Given the description of an element on the screen output the (x, y) to click on. 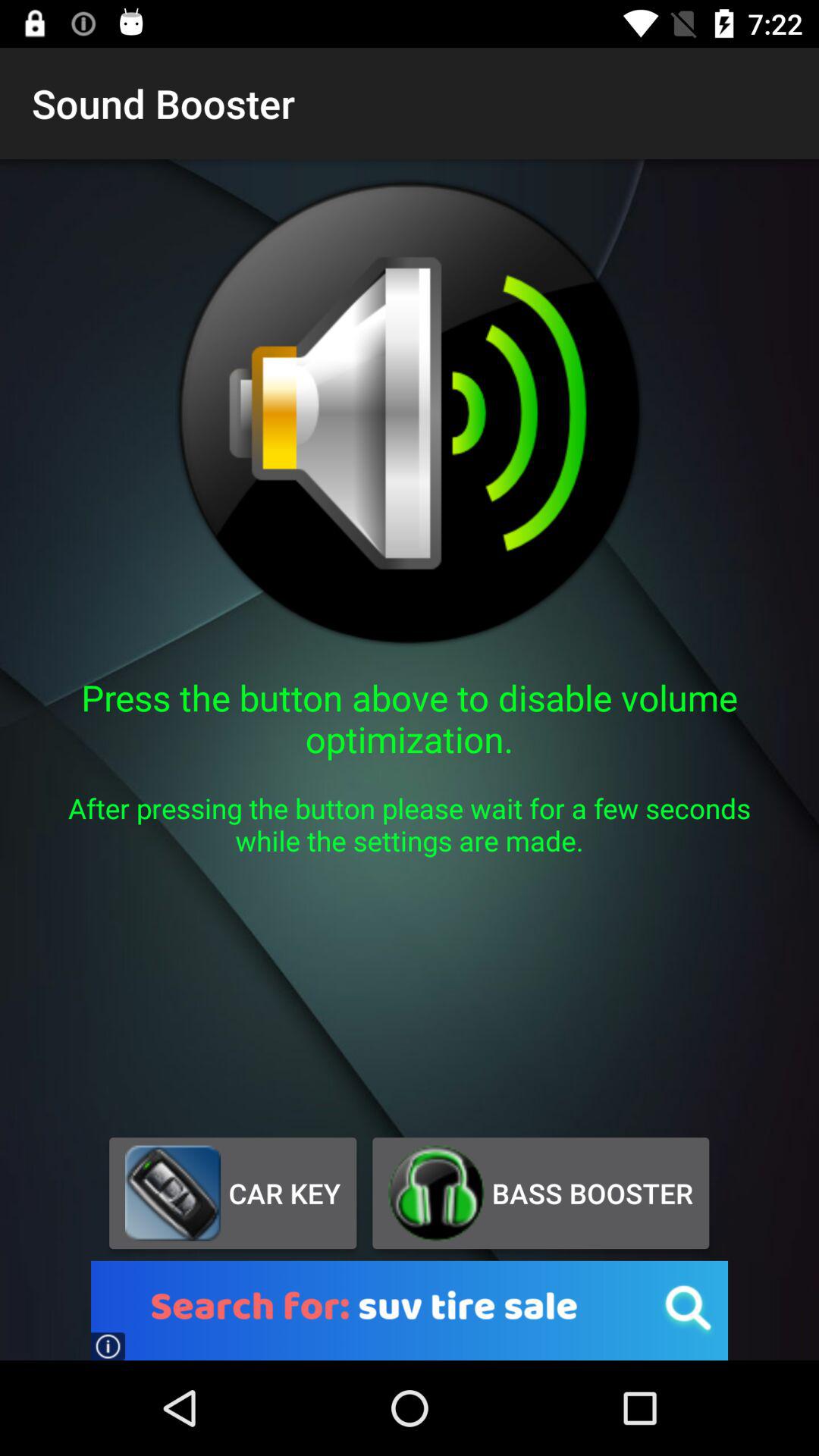
choose button to the right of car key icon (540, 1192)
